Given the description of an element on the screen output the (x, y) to click on. 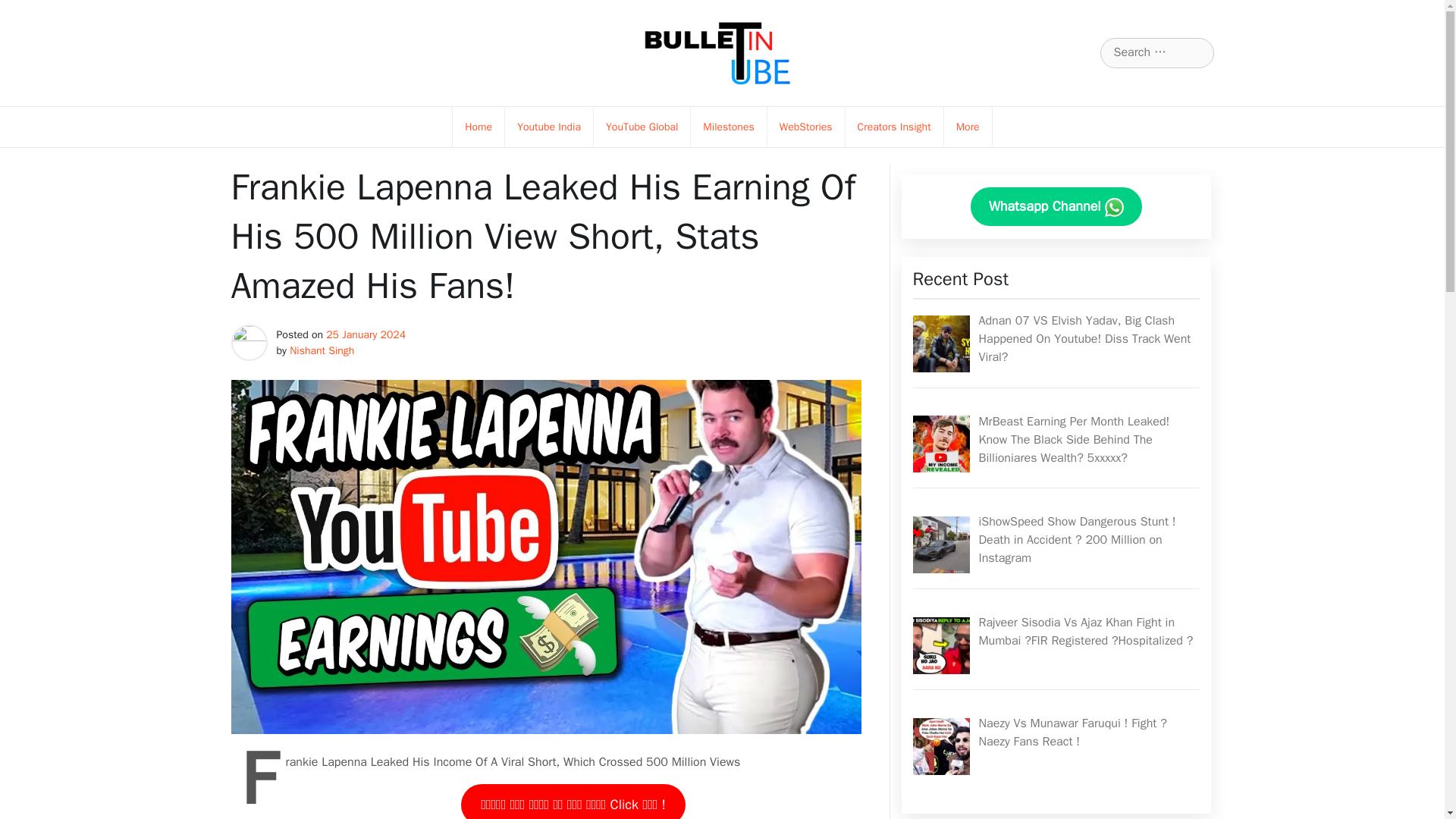
YouTube Global (641, 127)
Search (31, 12)
Whatsapp Channel (1055, 206)
Nishant Singh (321, 350)
Milestones (728, 127)
25 January 2024 (366, 334)
Bulletintube (637, 106)
